Given the description of an element on the screen output the (x, y) to click on. 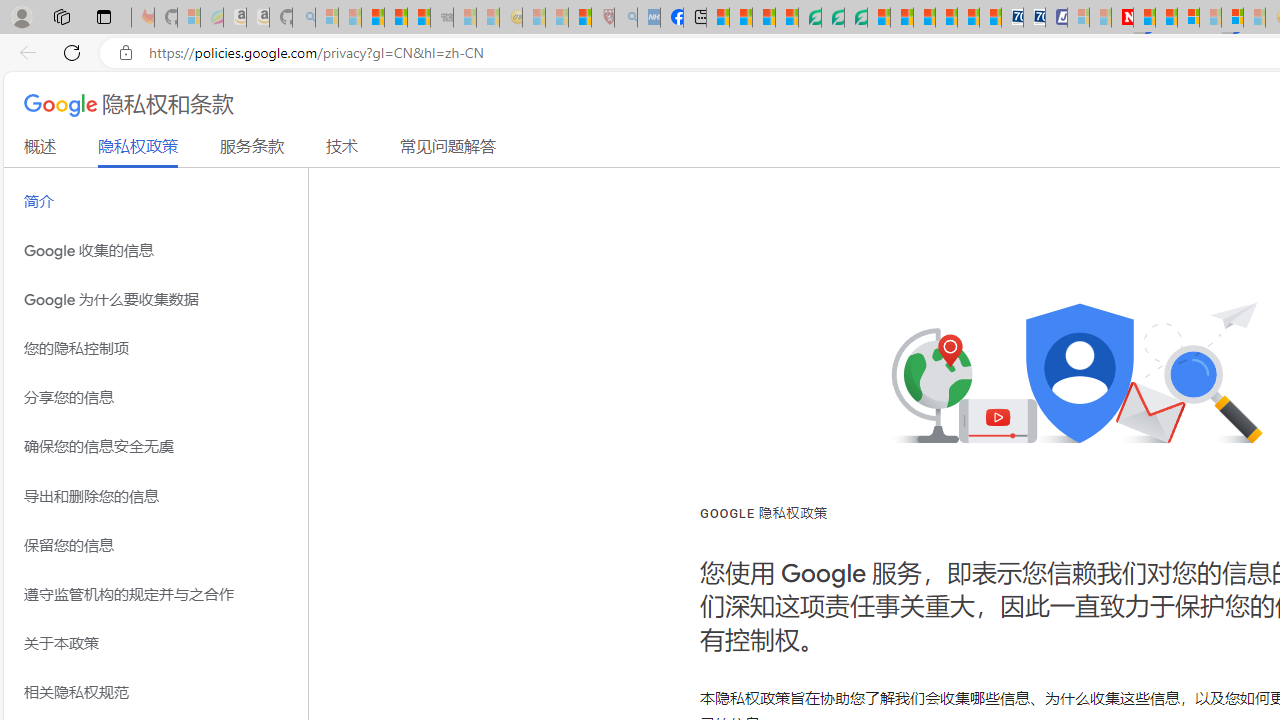
Local - MSN (580, 17)
Microsoft Word - consumer-privacy address update 2.2021 (855, 17)
